Given the description of an element on the screen output the (x, y) to click on. 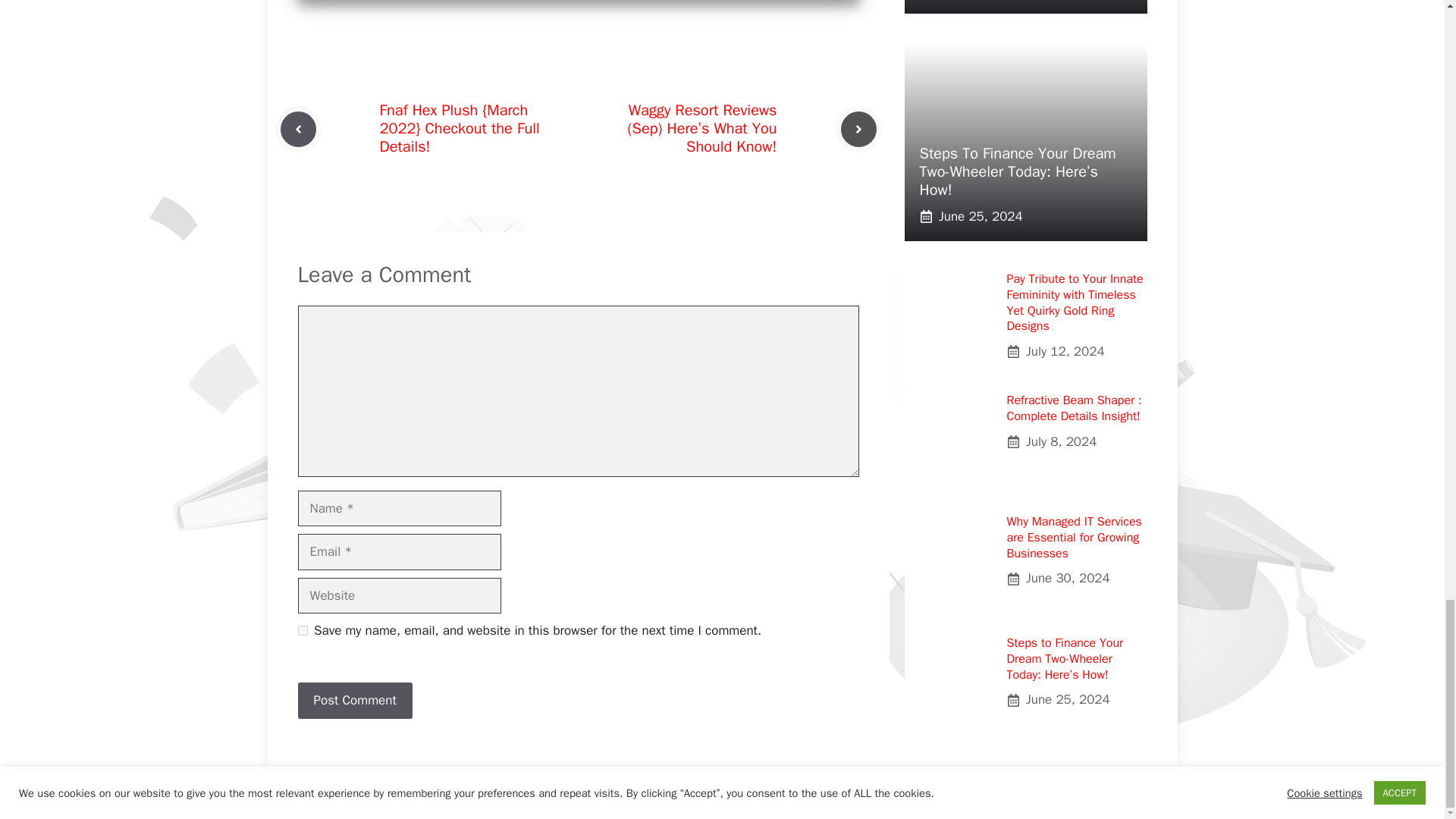
Post Comment (354, 700)
yes (302, 630)
